Given the description of an element on the screen output the (x, y) to click on. 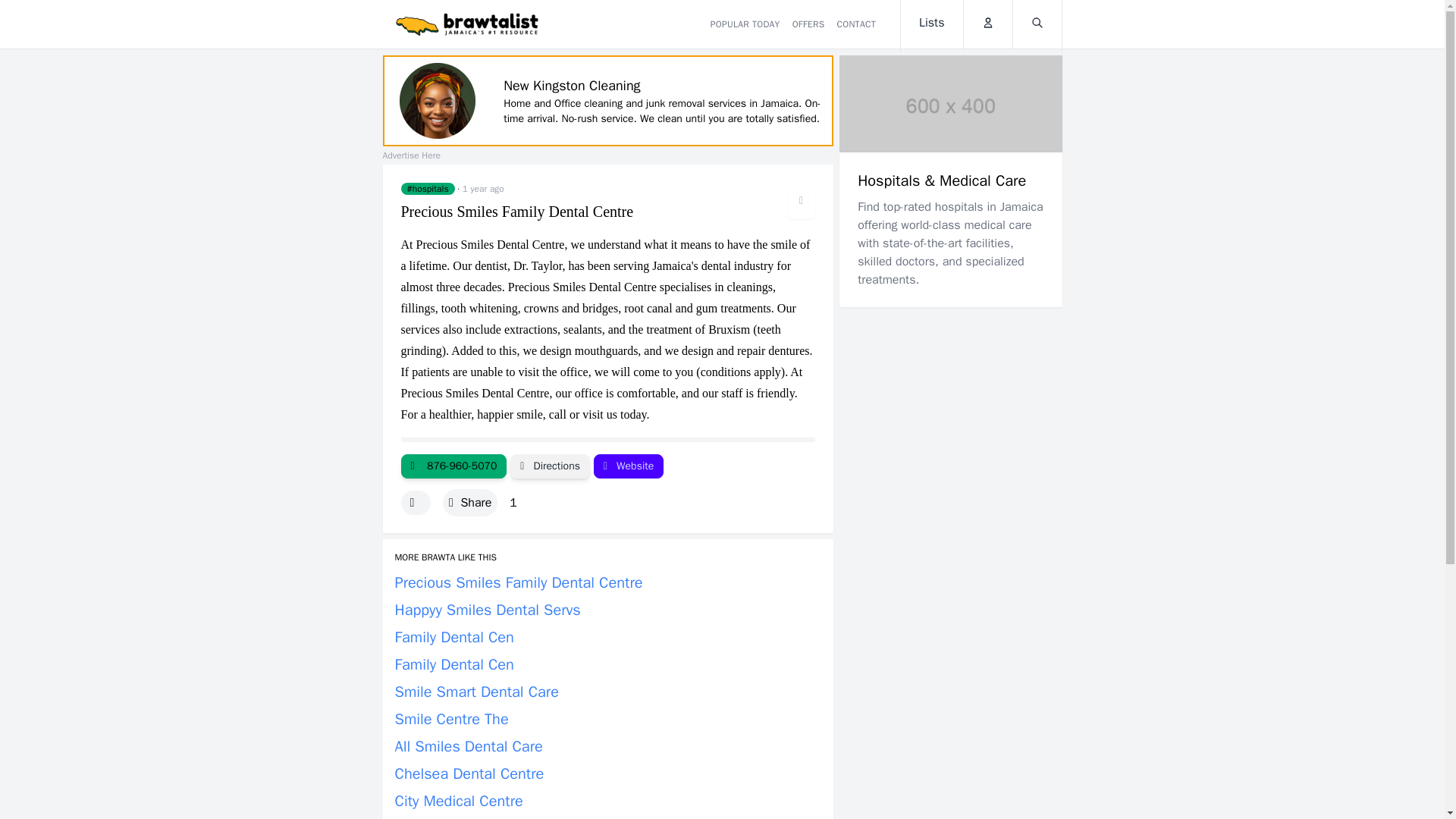
Family Dental Cen (453, 637)
Like (414, 502)
All Smiles Dental Care (467, 746)
OFFERS (808, 24)
Search (1037, 24)
POPULAR TODAY (745, 24)
  876-960-5070 (453, 466)
City Medical Centre (458, 800)
Account (986, 24)
Happyy Smiles Dental Servs (486, 609)
Advertise Here (410, 155)
Family Dental Cen (453, 664)
 Share (469, 502)
